Given the description of an element on the screen output the (x, y) to click on. 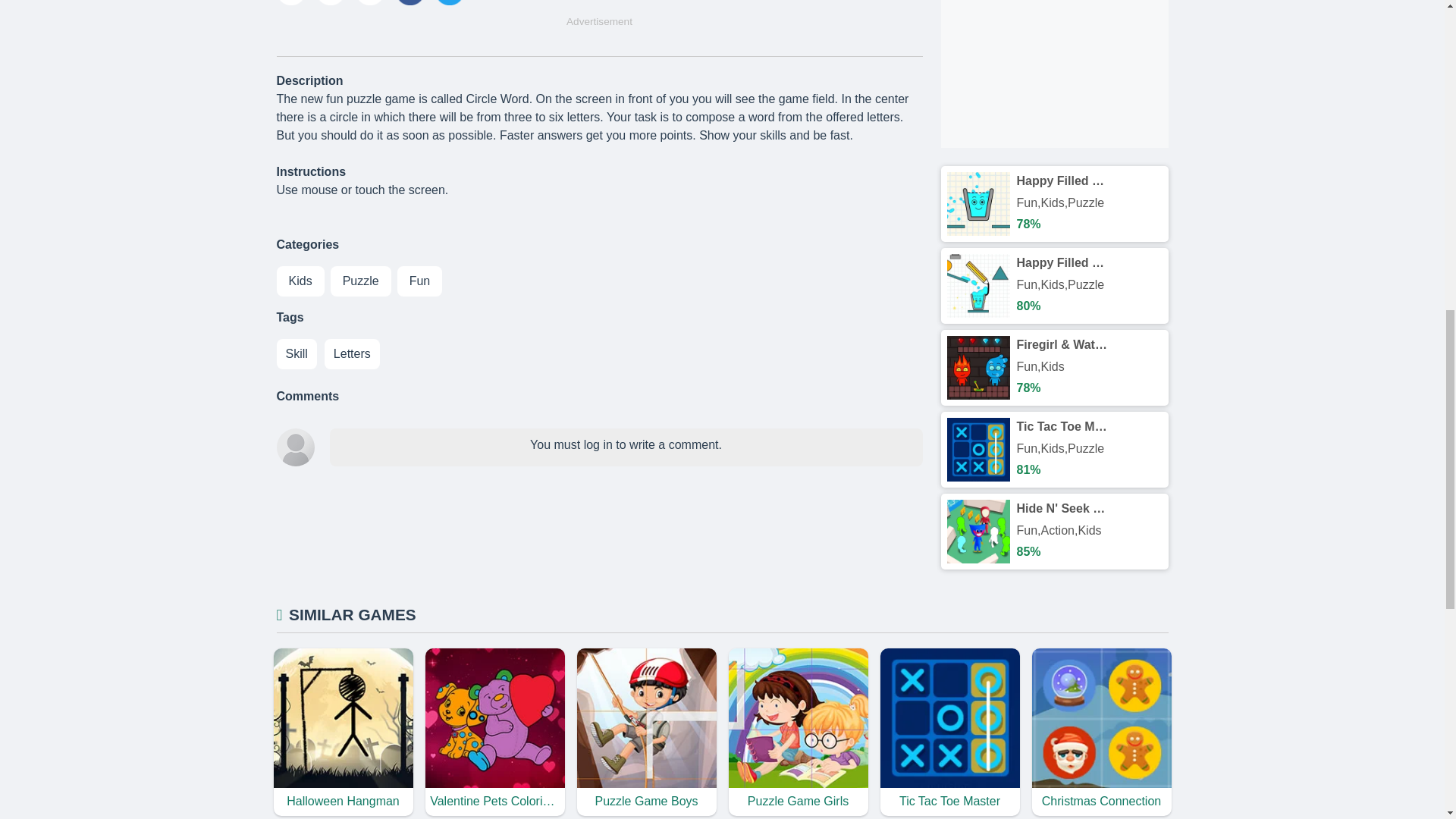
New Window (290, 2)
Report Game (369, 2)
Kids (299, 281)
Full Screen (330, 2)
Puzzle (360, 281)
Skill (295, 354)
Fun (419, 281)
Advertisement (1053, 74)
Letters (352, 354)
